Given the description of an element on the screen output the (x, y) to click on. 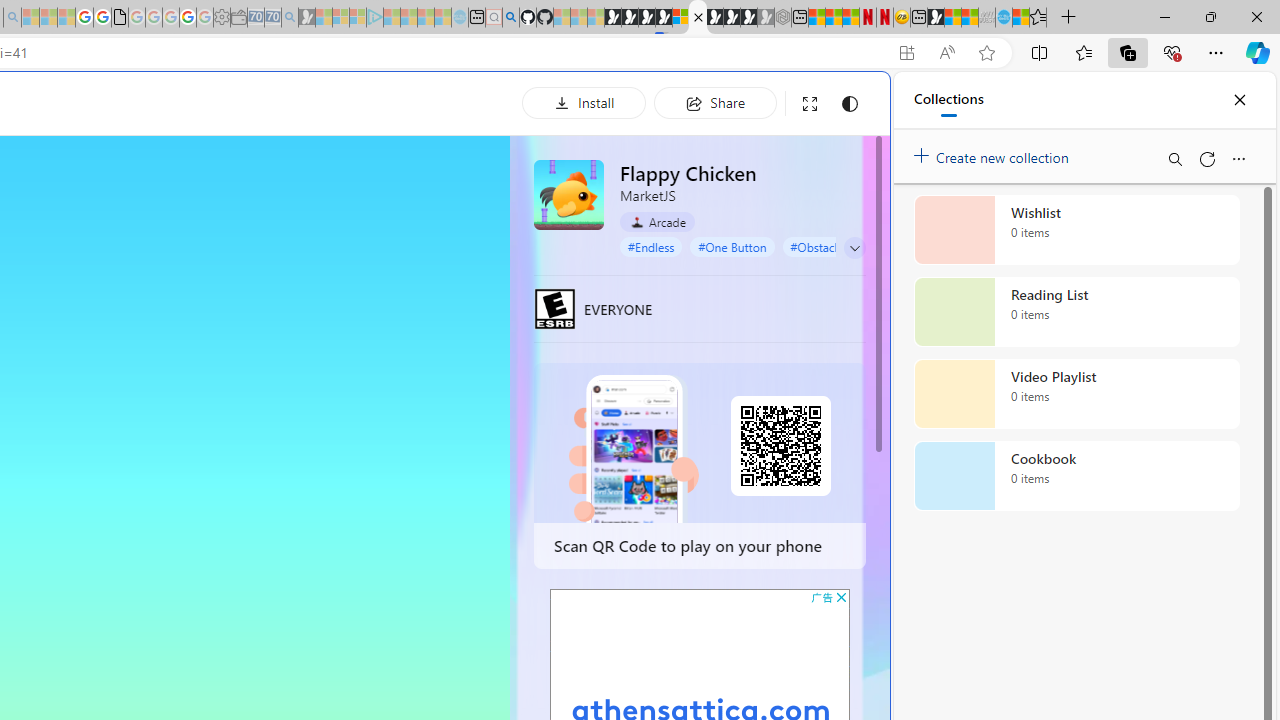
Sign in to your account (680, 17)
Earth has six continents not seven, radical new study claims (969, 17)
AutomationID: cbb (841, 596)
